Given the description of an element on the screen output the (x, y) to click on. 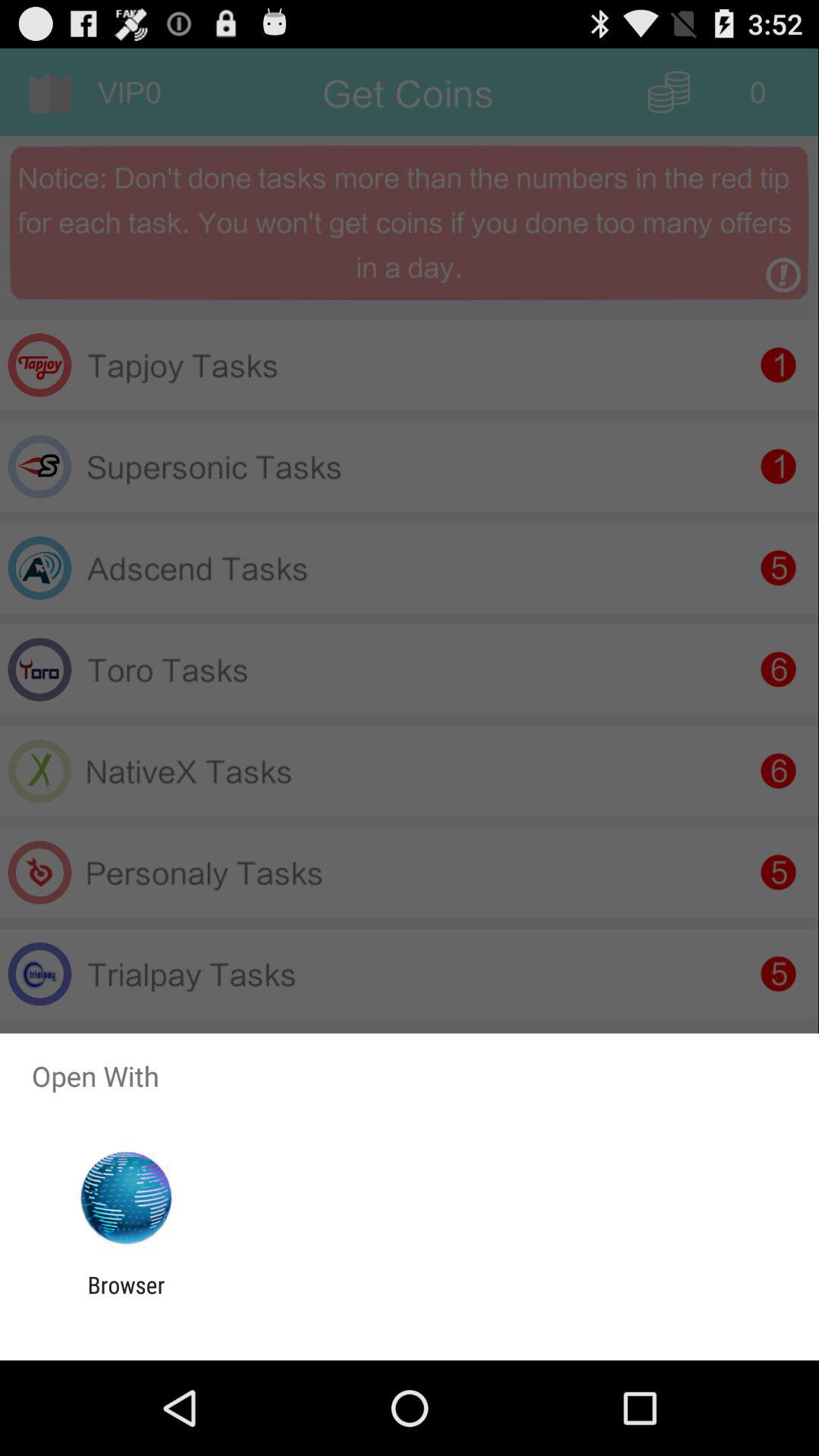
turn on item above browser item (126, 1198)
